Given the description of an element on the screen output the (x, y) to click on. 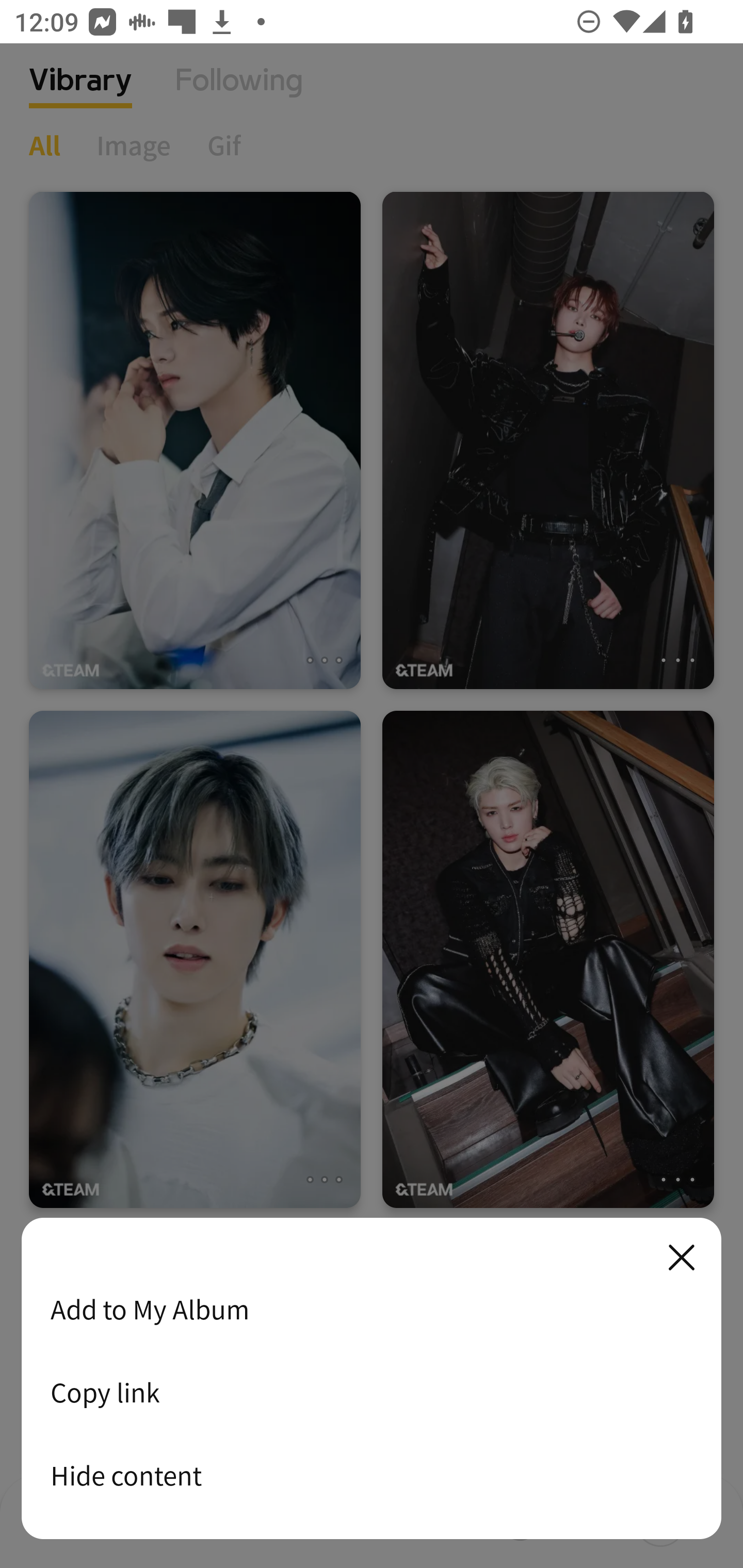
Add to My Album Copy link Hide content (371, 1378)
Add to My Album (371, 1308)
Copy link (371, 1391)
Hide content (371, 1474)
